Given the description of an element on the screen output the (x, y) to click on. 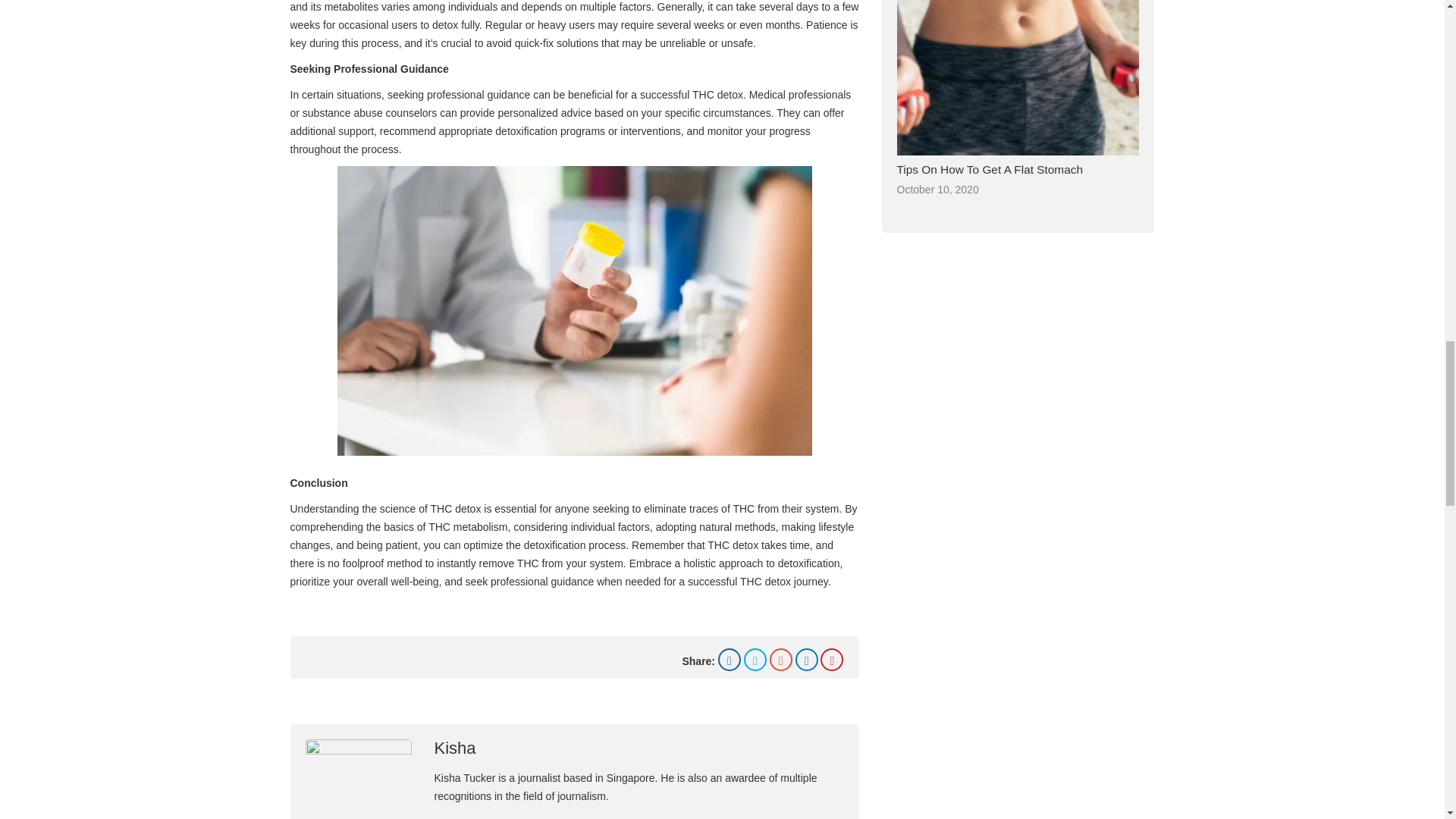
Pinterest (832, 659)
Linkedin (806, 659)
Kisha (454, 747)
Twitter (755, 659)
Google Plus (781, 659)
Facebook (729, 659)
